Given the description of an element on the screen output the (x, y) to click on. 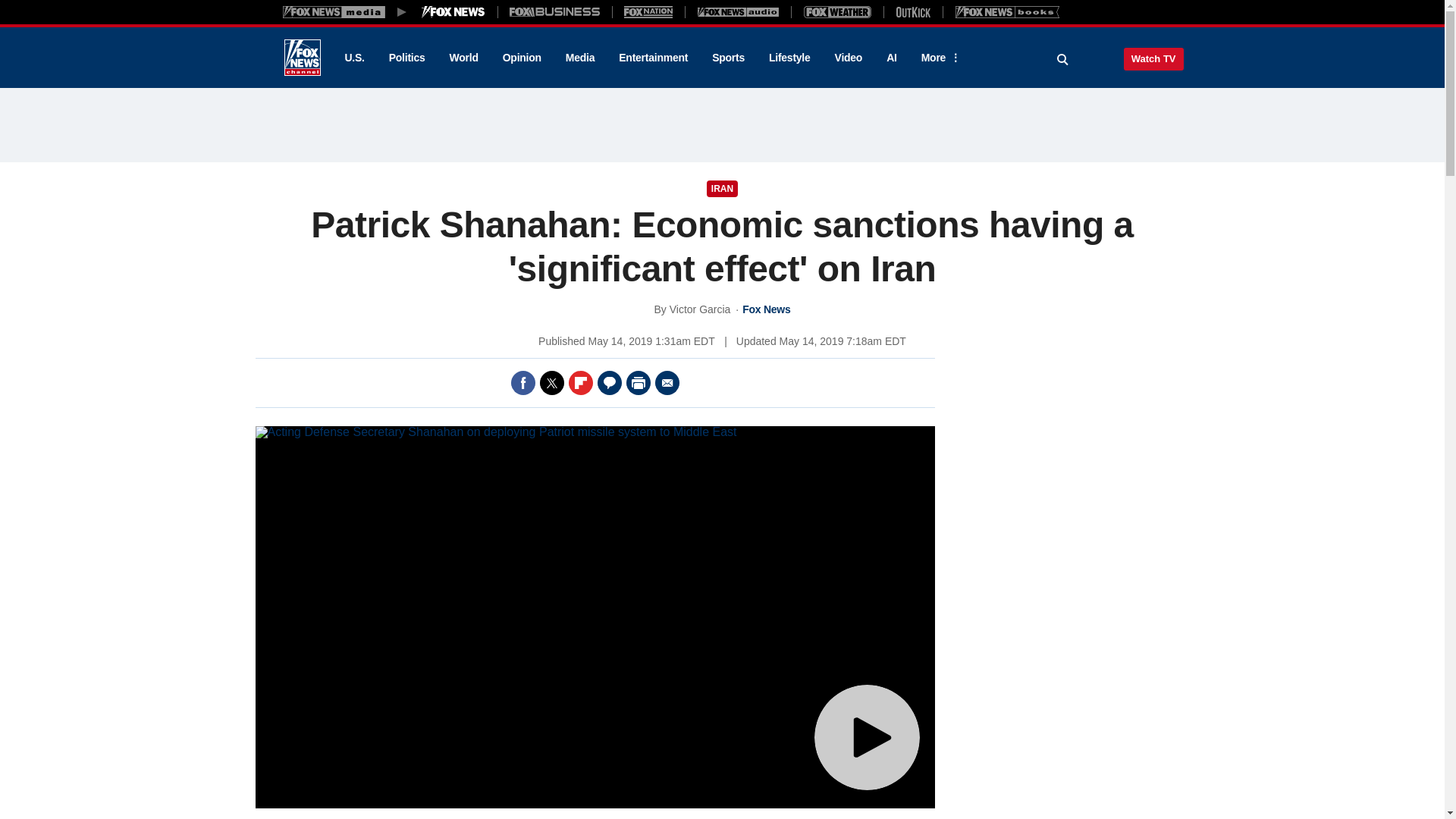
Watch TV (1153, 58)
Opinion (521, 57)
Books (1007, 11)
Media (580, 57)
World (464, 57)
Fox Weather (836, 11)
Fox News Media (453, 11)
Video (848, 57)
U.S. (353, 57)
Sports (728, 57)
